Given the description of an element on the screen output the (x, y) to click on. 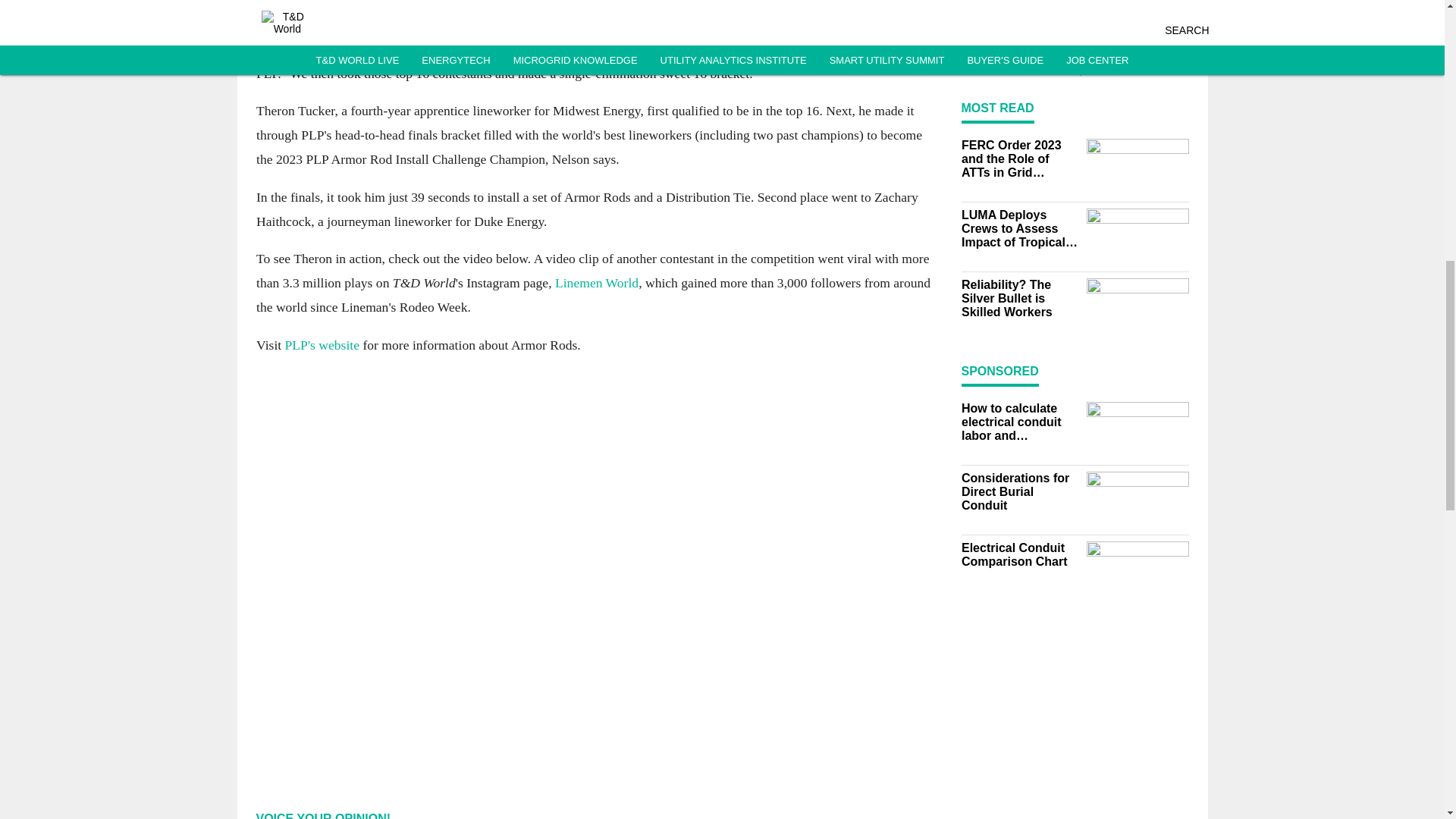
Electric Utility Operations (1129, 60)
NY Public Service Commission Releases Report on Reliability (1129, 11)
Linemen World (595, 283)
PLP's website (320, 344)
